Given the description of an element on the screen output the (x, y) to click on. 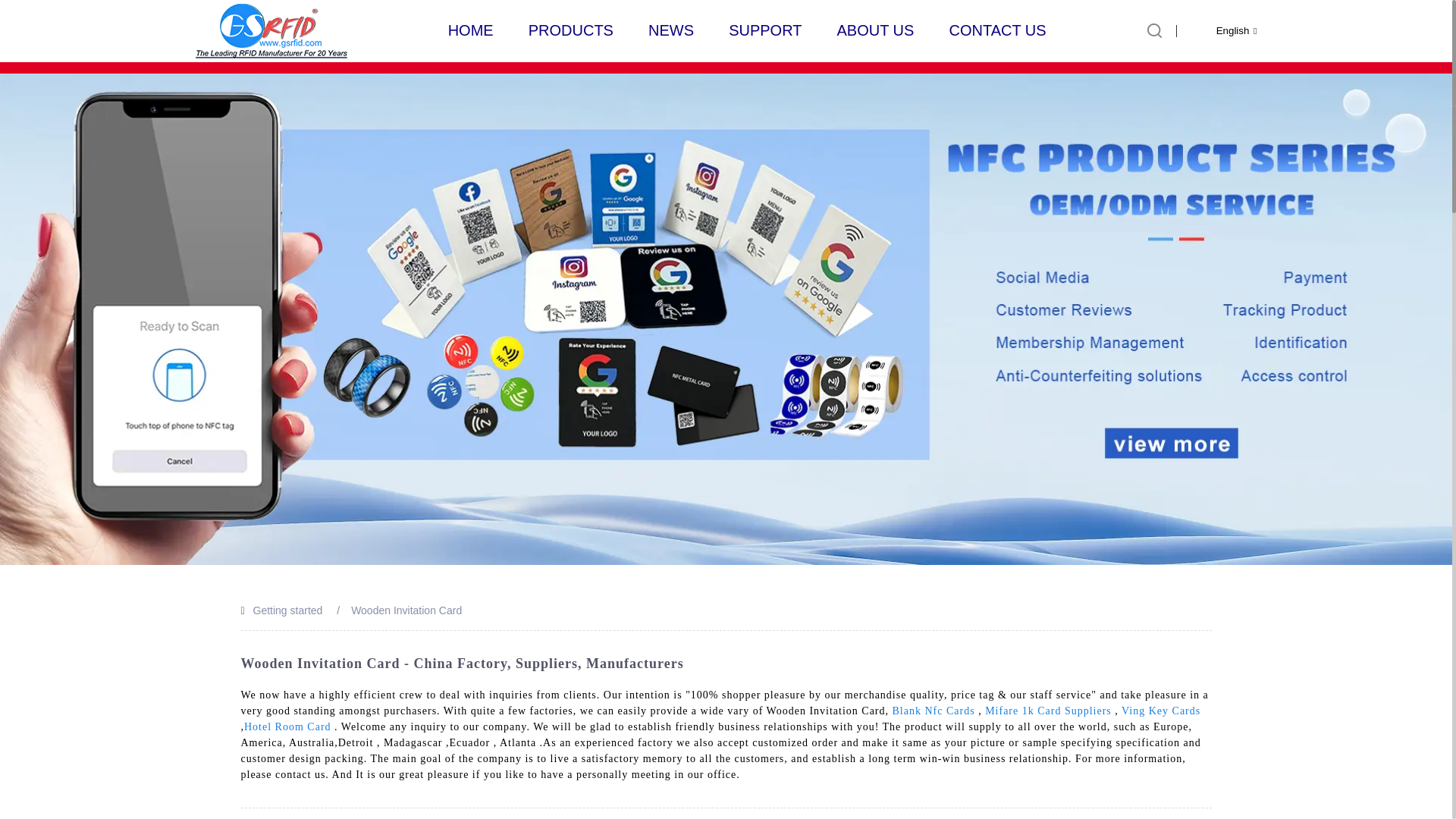
Ving Key Cards (1160, 710)
Mifare 1k Card Suppliers (1048, 710)
PRODUCTS (570, 30)
Hotel Room Card (287, 726)
Blank Nfc Cards (933, 710)
